Given the description of an element on the screen output the (x, y) to click on. 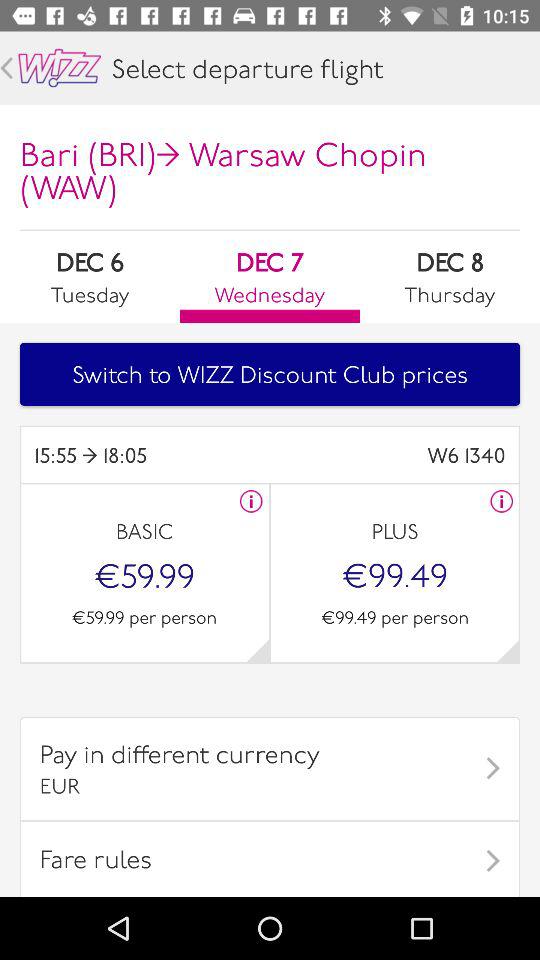
go back (6, 67)
